Given the description of an element on the screen output the (x, y) to click on. 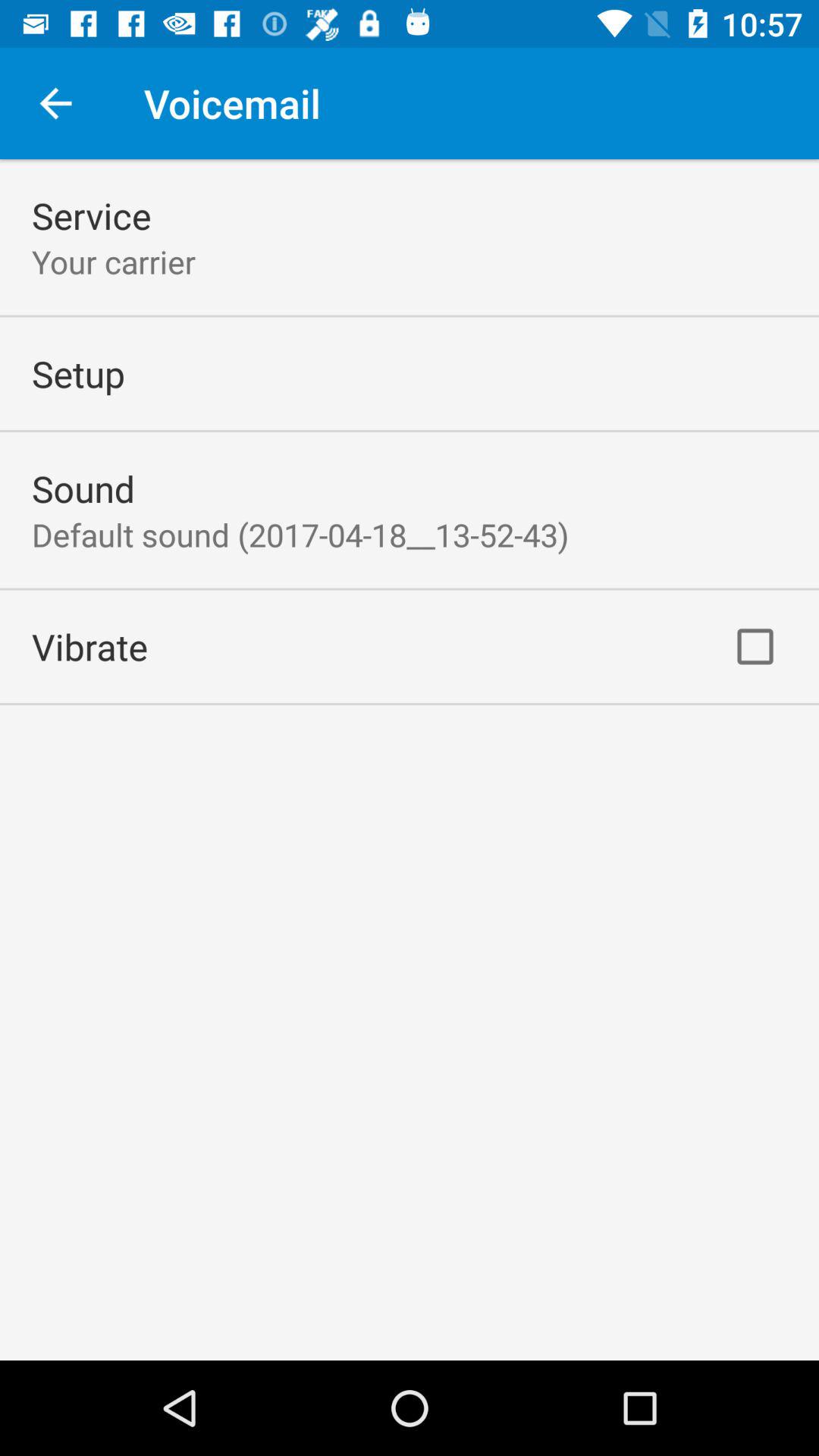
select the item to the right of vibrate (755, 646)
